Given the description of an element on the screen output the (x, y) to click on. 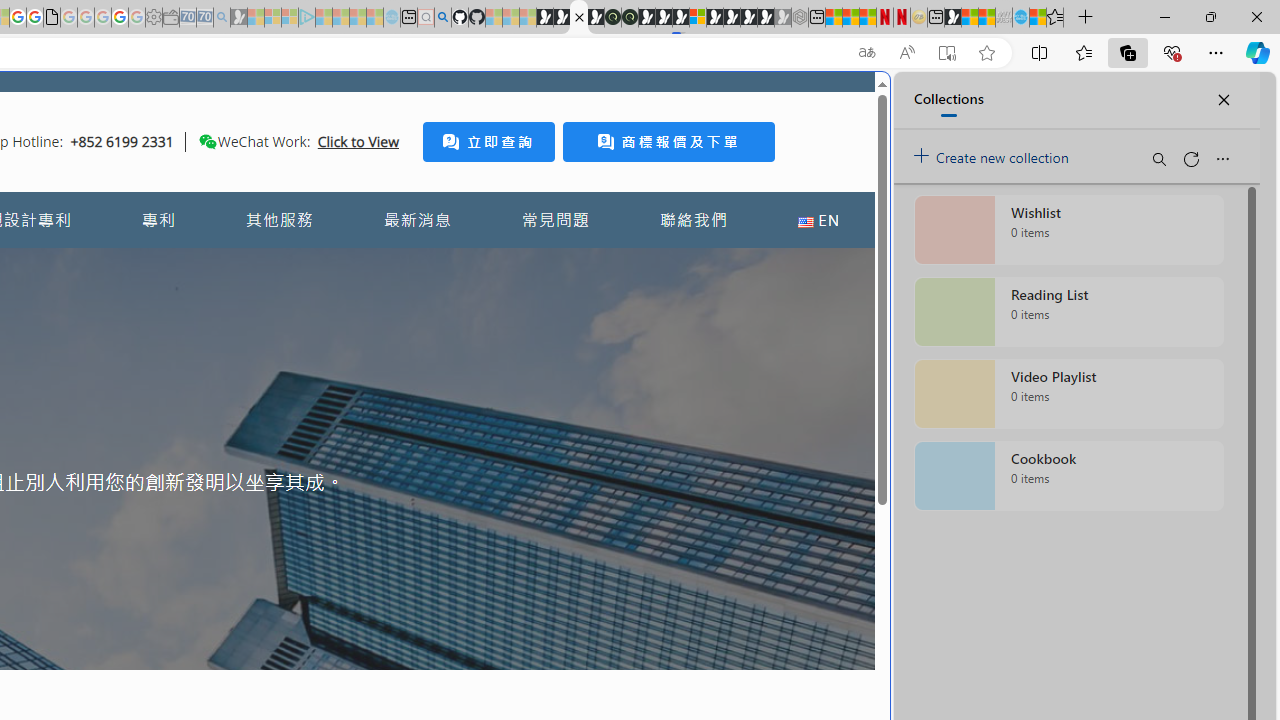
Play Cave FRVR in your browser | Games from Microsoft Start (663, 17)
Class: desktop (207, 141)
Earth has six continents not seven, radical new study claims (986, 17)
github - Search (442, 17)
Microsoft Start Gaming - Sleeping (238, 17)
